Given the description of an element on the screen output the (x, y) to click on. 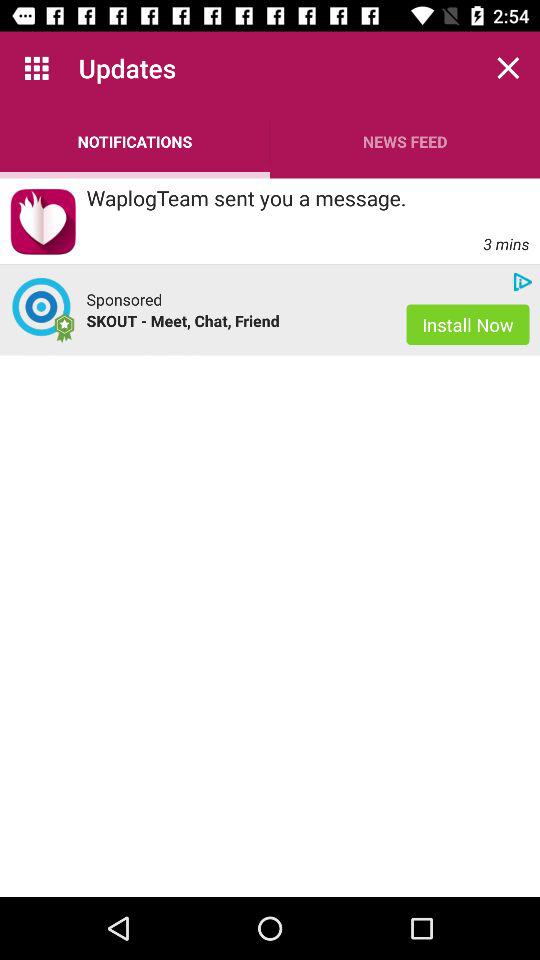
scroll to the news feed (405, 141)
